Given the description of an element on the screen output the (x, y) to click on. 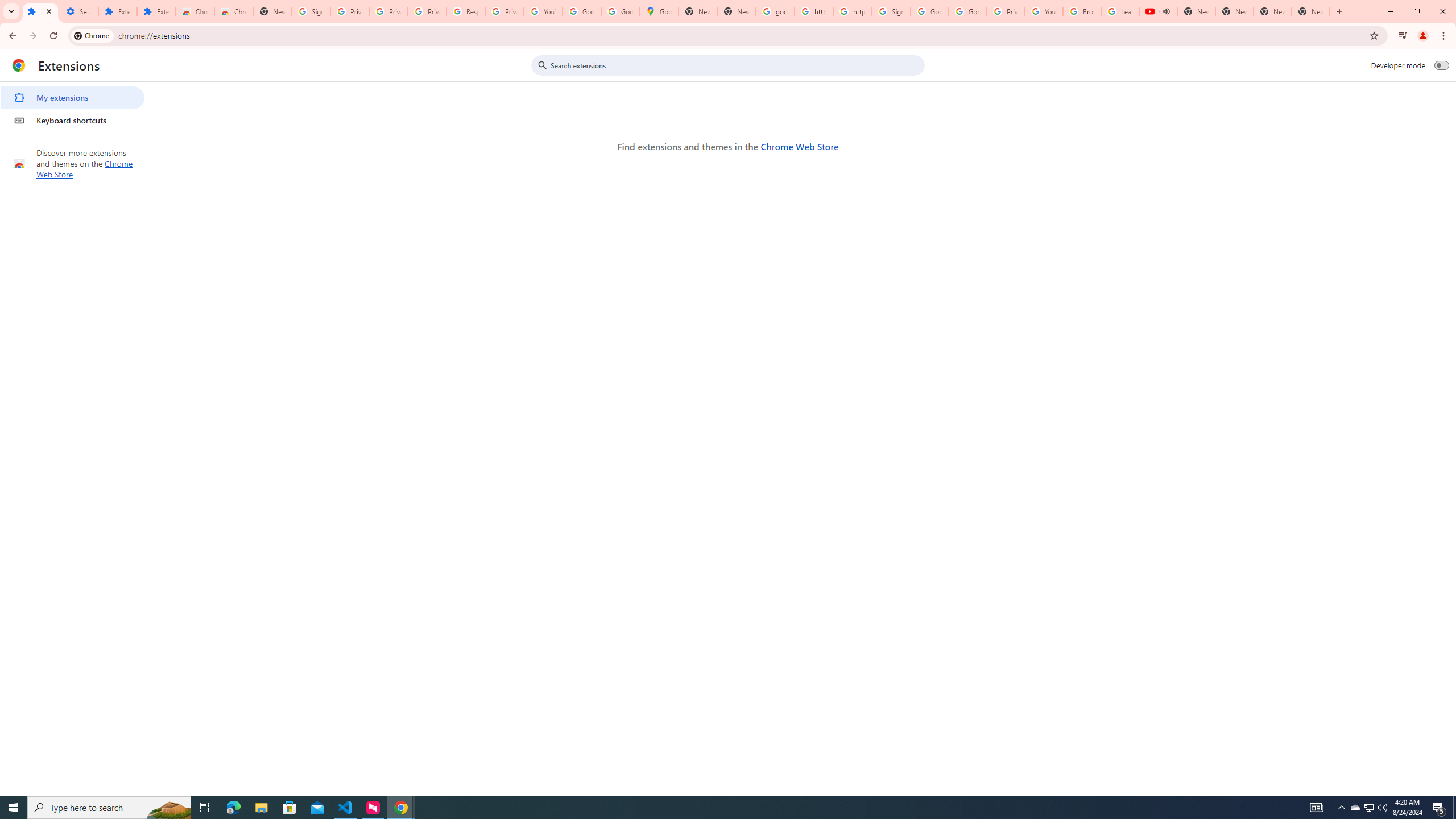
Chrome Web Store (799, 146)
Extensions (156, 11)
YouTube (1043, 11)
Chrome Web Store - Themes (233, 11)
